Given the description of an element on the screen output the (x, y) to click on. 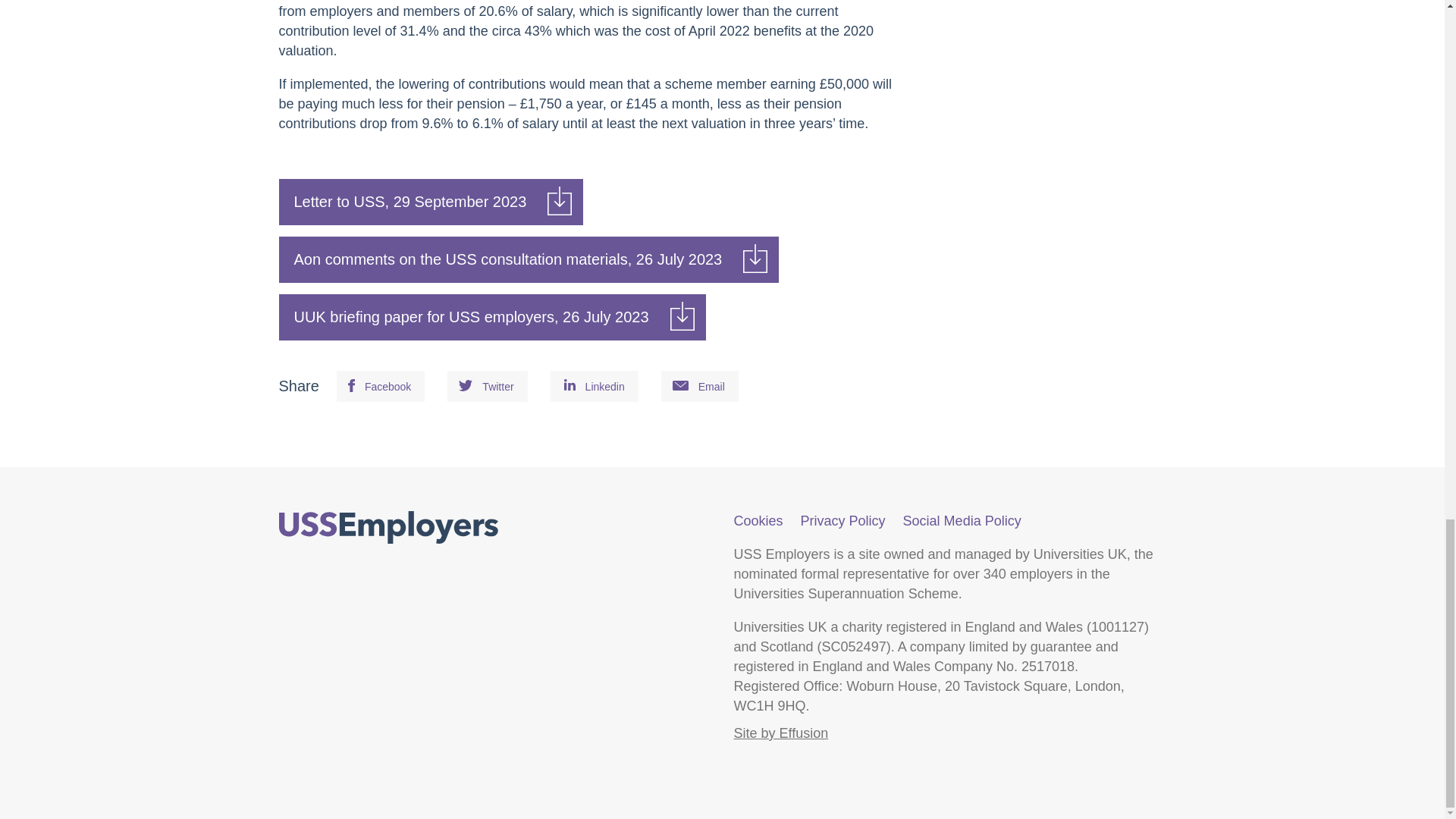
Site by Effusion (780, 733)
Linkedin (594, 386)
USS-briefing-paper-for-employers-on-the-journey-plan.pdf (492, 317)
aon-comments-uss-valuation-31-march-2023.pdf (528, 259)
Privacy Policy (842, 520)
Letter to USS, 29 September 2023 (431, 202)
Aon comments on the USS consultation materials, 26 July 2023 (528, 259)
Cookies (758, 520)
Social Media Policy (962, 520)
USSEmployers (388, 527)
Twitter (486, 386)
uuk-letter-carol-young-290923.pdf (431, 202)
Facebook (380, 386)
Email (699, 386)
